Given the description of an element on the screen output the (x, y) to click on. 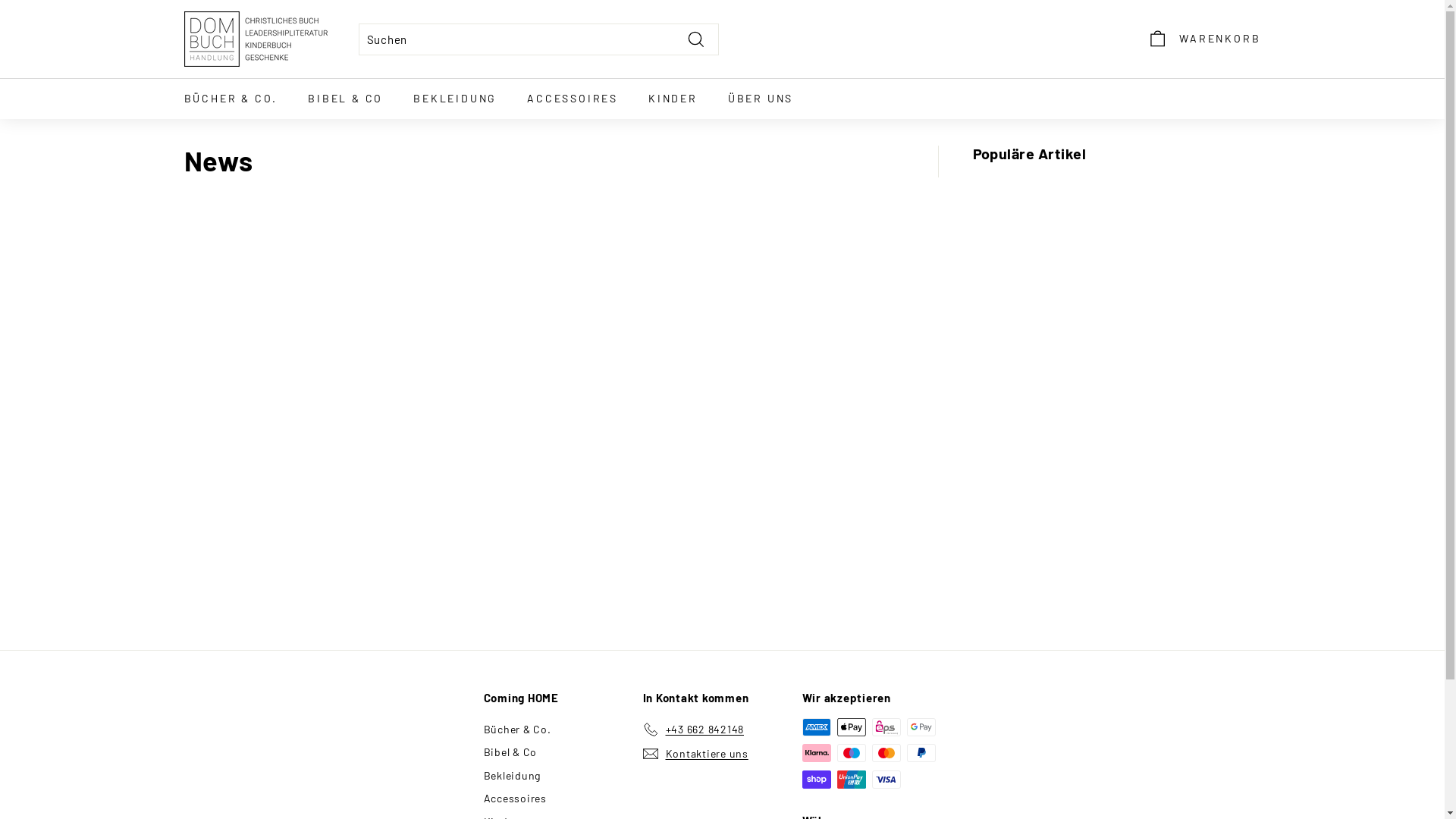
Direkt zum Inhalt Element type: text (0, 0)
ACCESSOIRES Element type: text (572, 98)
Accessoires Element type: text (514, 798)
Kontaktiere uns Element type: text (695, 753)
KINDER Element type: text (672, 98)
BIBEL & CO Element type: text (345, 98)
+43 662 842148 Element type: text (693, 729)
Bekleidung Element type: text (512, 775)
Bibel & Co Element type: text (510, 751)
BEKLEIDUNG Element type: text (454, 98)
